Given the description of an element on the screen output the (x, y) to click on. 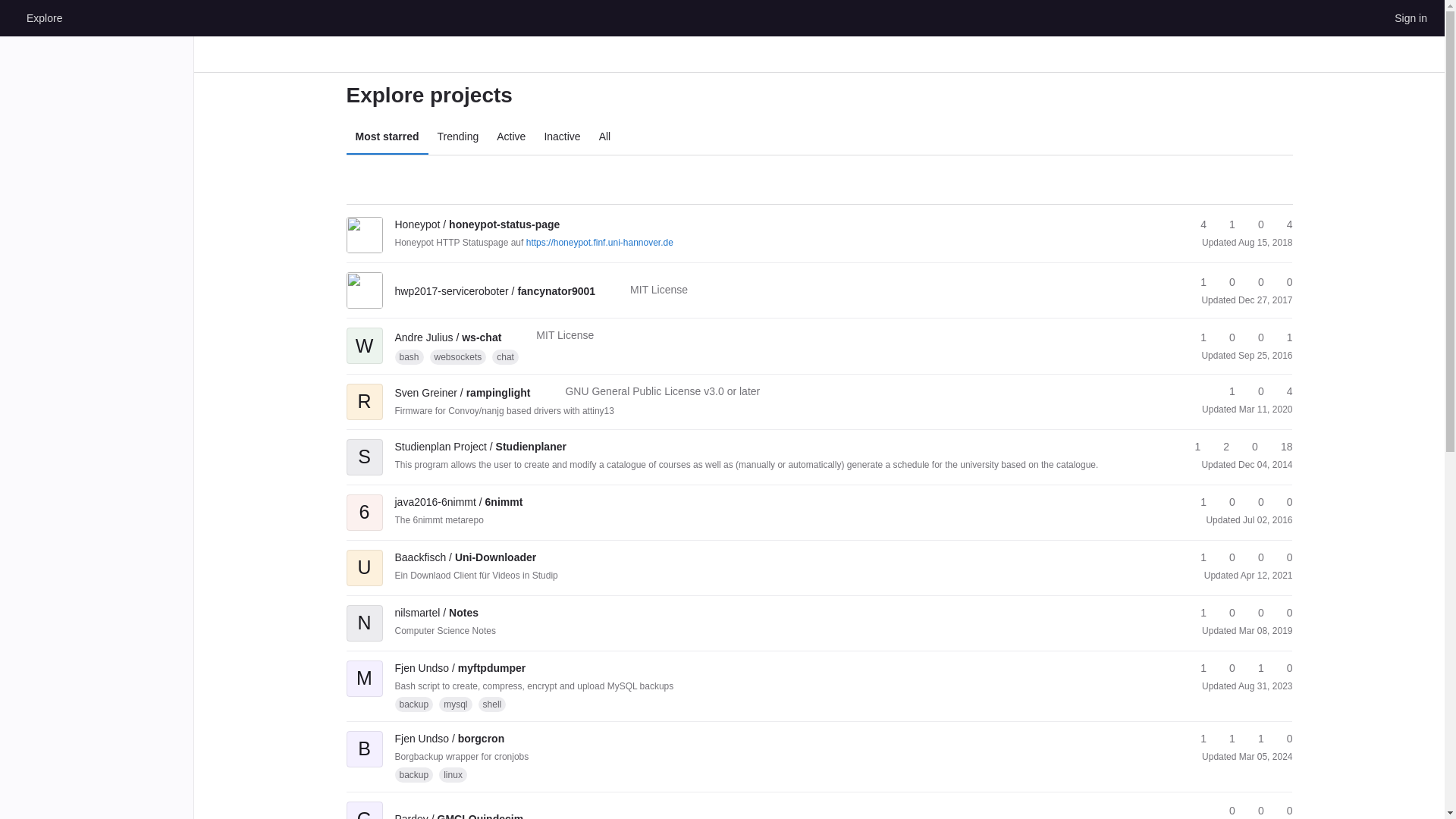
All (604, 135)
Homepage (11, 17)
Merge requests (1253, 224)
1 (1224, 391)
Sign in (1410, 17)
1 (1224, 224)
Merge requests (1253, 282)
Explore (44, 17)
honeypot-status-page (476, 224)
0 (1253, 224)
Trending (457, 135)
Dec 27, 2017 1:10pm (1265, 299)
Issues (1282, 224)
4 (1282, 224)
chat (505, 356)
